Given the description of an element on the screen output the (x, y) to click on. 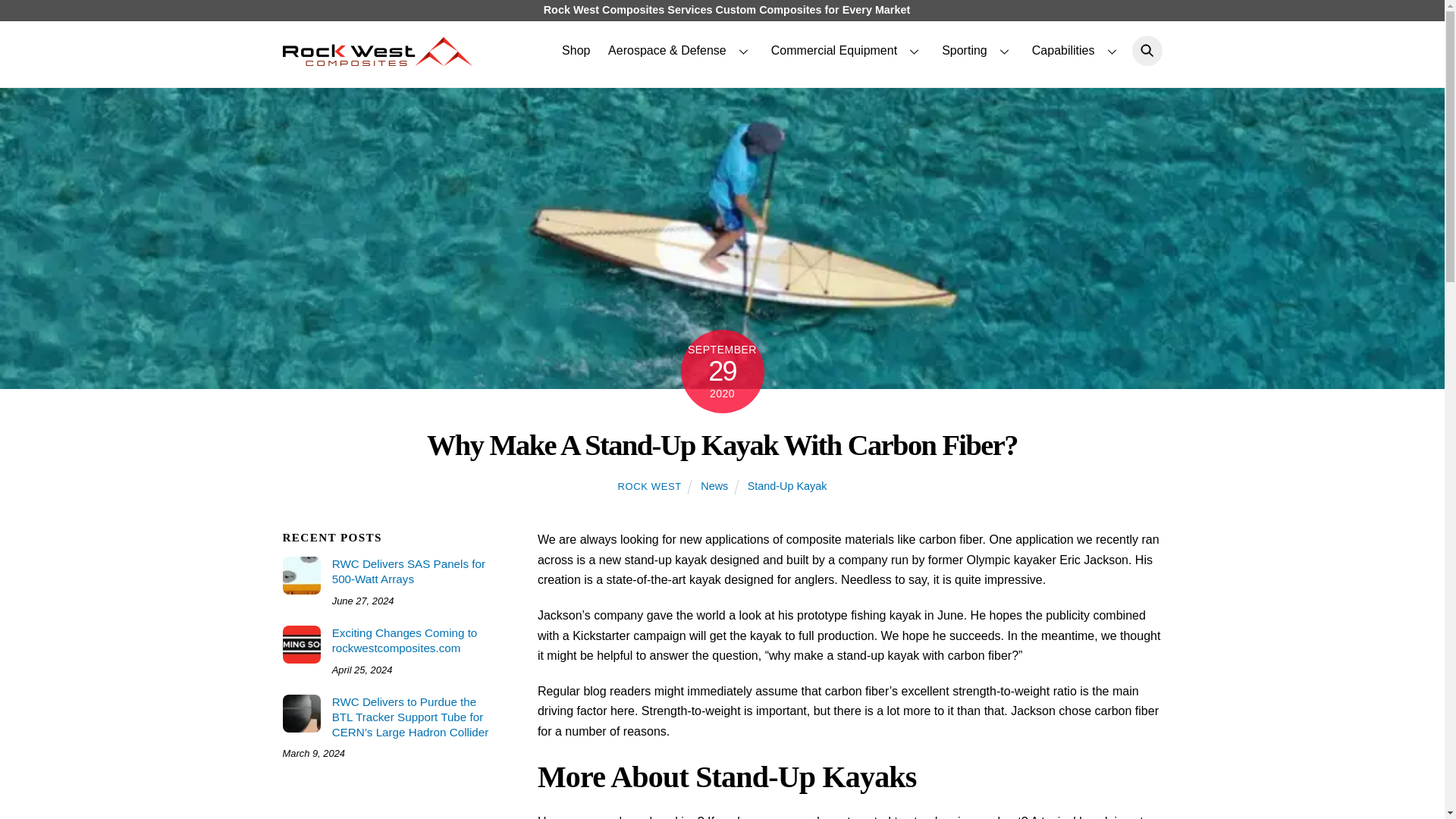
Capabilities (1076, 50)
News (714, 485)
Commercial Equipment (846, 50)
Search (1142, 51)
Coming Soon Banner copy (301, 644)
ROCK WEST (649, 486)
Shop (576, 50)
Stand-Up Kayak (787, 485)
Sporting (978, 50)
Why Make A Stand-Up Kayak With Carbon Fiber? (721, 445)
Rock West Composites (376, 58)
